Given the description of an element on the screen output the (x, y) to click on. 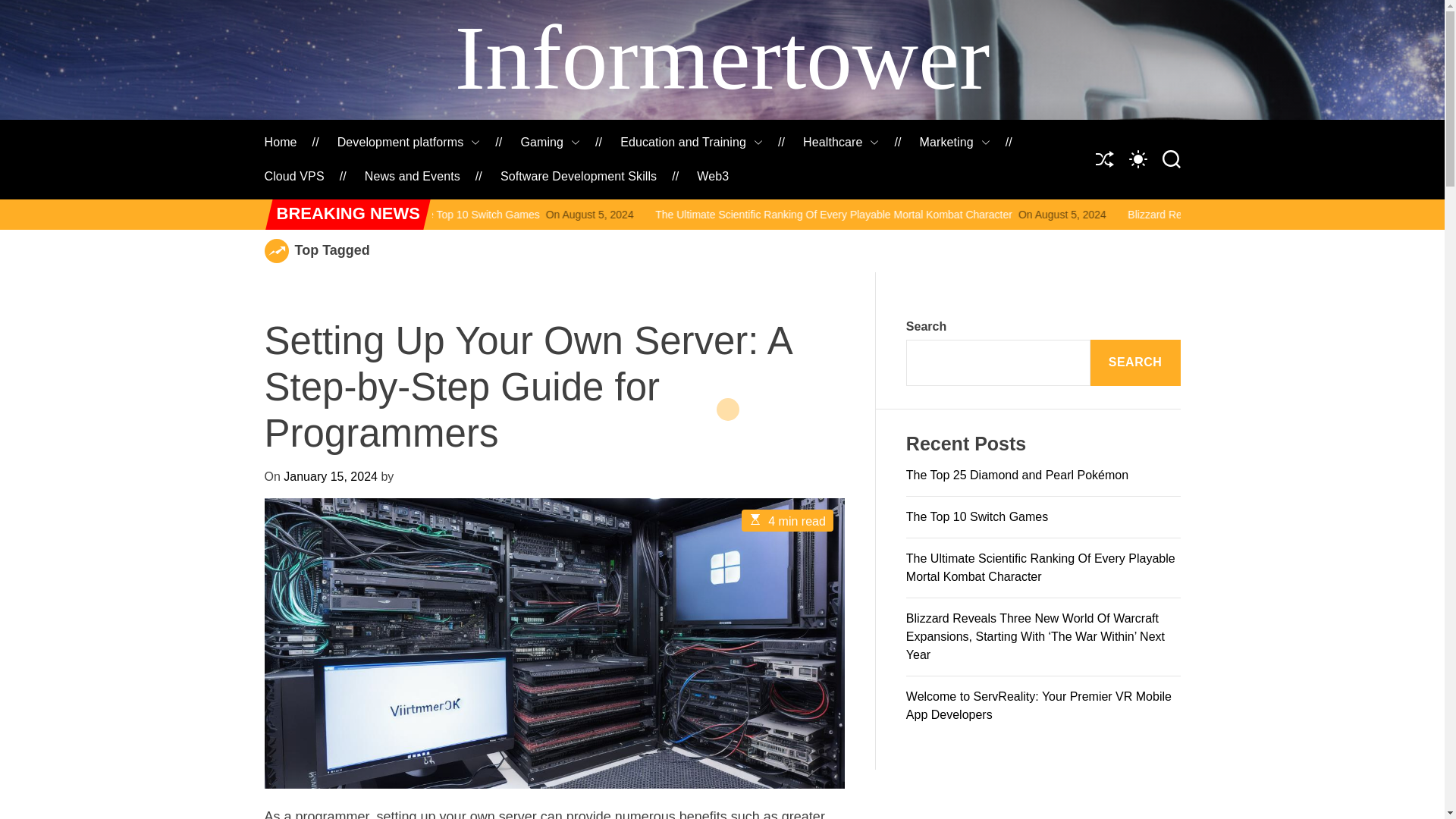
Education and Training (691, 142)
Home (280, 142)
Informertower (722, 58)
Healthcare (841, 142)
Gaming (549, 142)
Development platforms (408, 142)
